Given the description of an element on the screen output the (x, y) to click on. 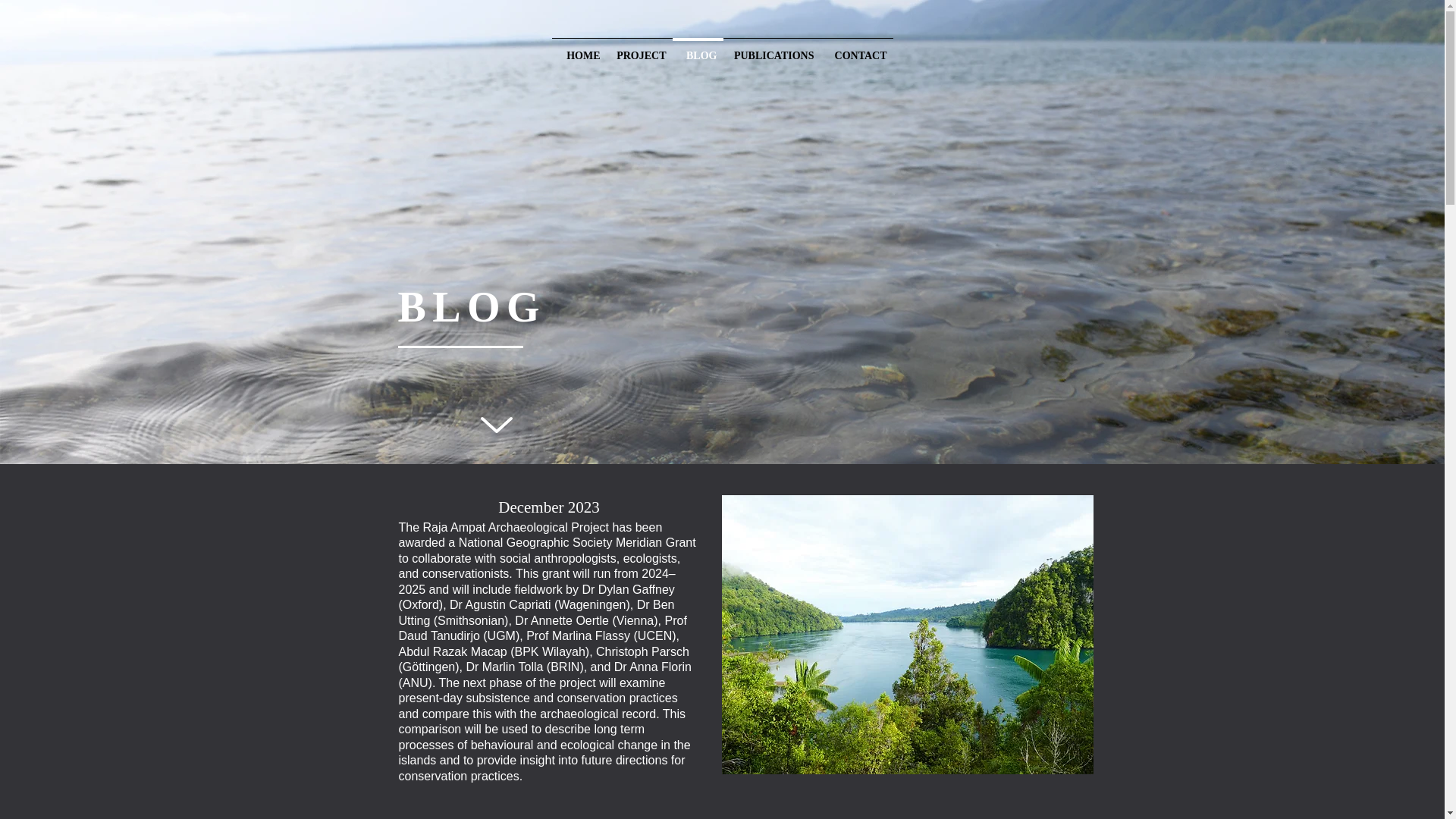
BLOG (696, 48)
HOME (579, 48)
Blog background copy.jpg (907, 634)
PROJECT (639, 48)
CONTACT (857, 48)
PUBLICATIONS (772, 48)
